Given the description of an element on the screen output the (x, y) to click on. 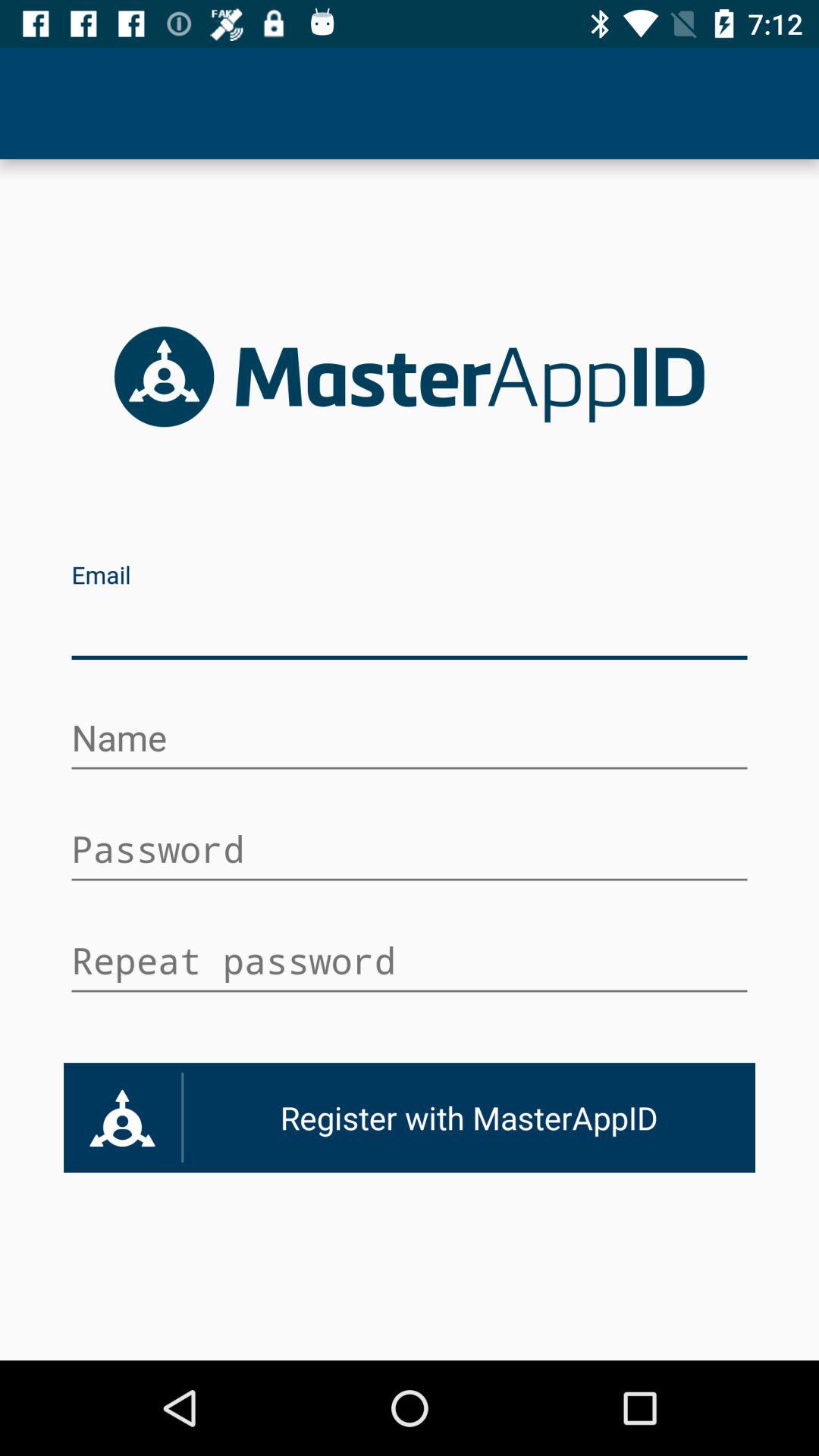
box of text for email (409, 628)
